Given the description of an element on the screen output the (x, y) to click on. 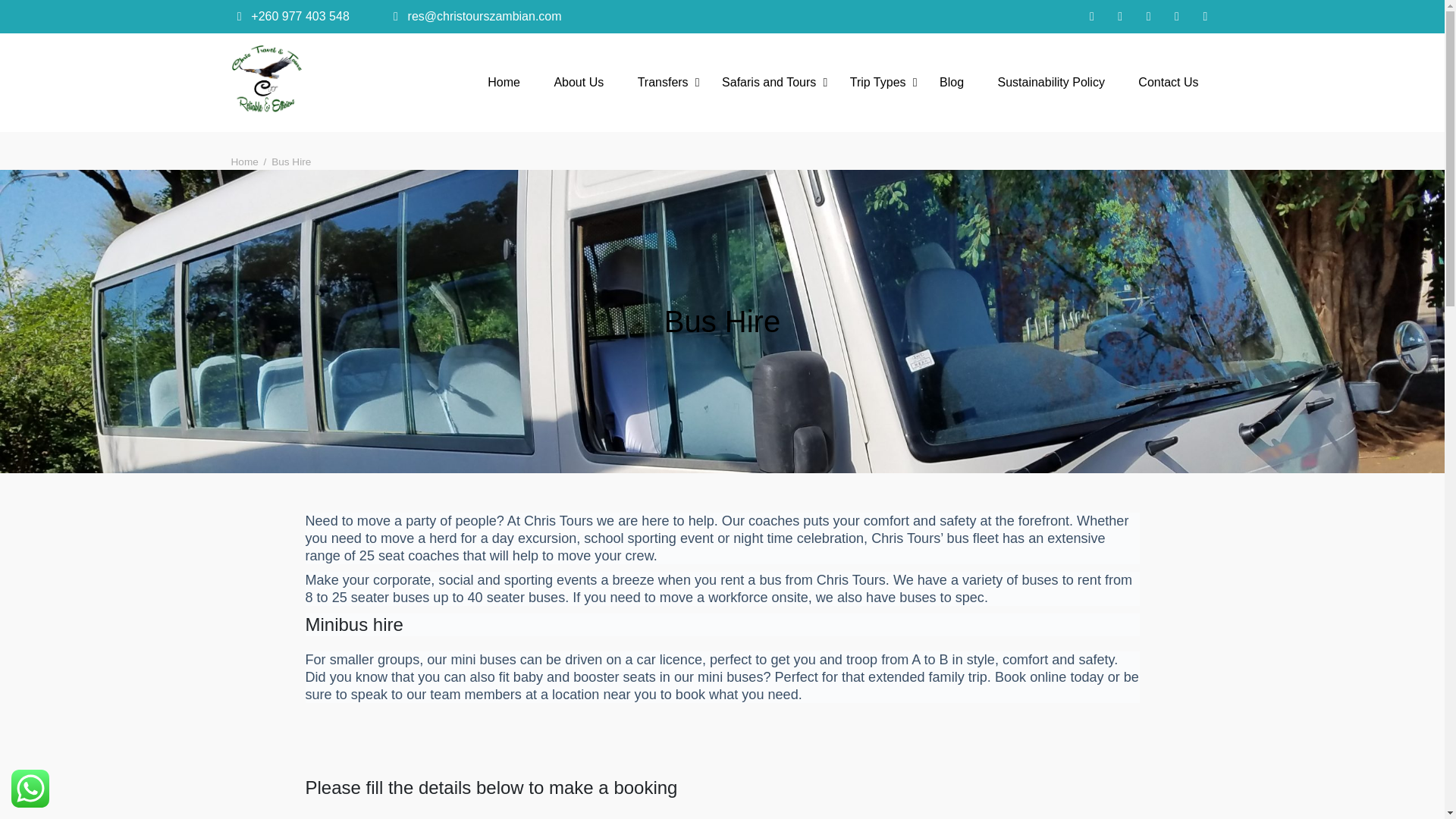
Transfers (663, 82)
Safaris and Tours (768, 82)
Blog (951, 82)
About Us (578, 82)
Trip Types (877, 82)
Sustainability Policy (1050, 82)
Home (503, 82)
Chris Travel and Tours (393, 139)
Contact Us (1167, 82)
Home (243, 161)
